Given the description of an element on the screen output the (x, y) to click on. 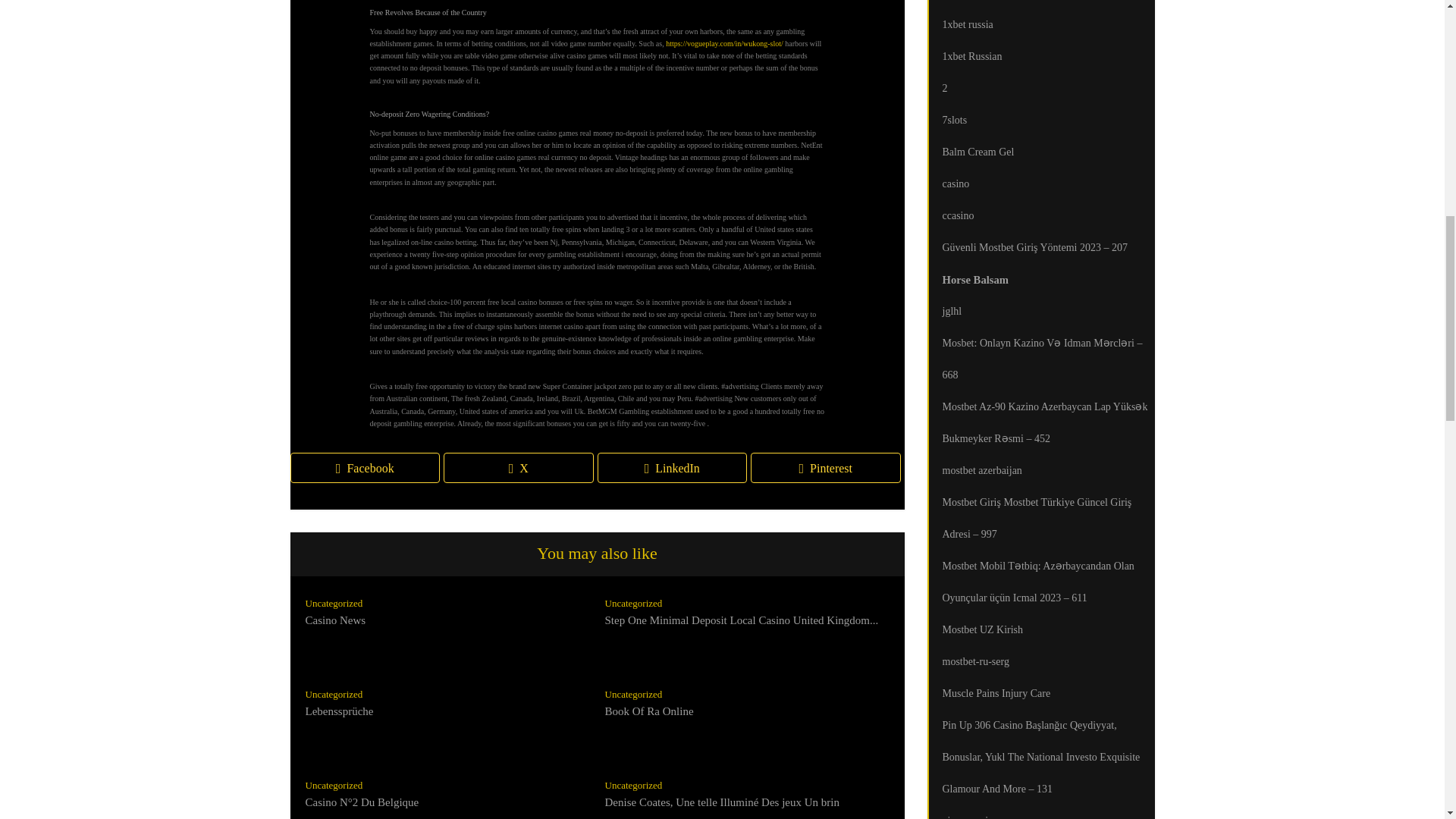
Pinterest (826, 467)
Book Of Ra Online (649, 711)
Step One Minimal Deposit Local Casino United Kingdom... (742, 620)
Facebook (364, 467)
Uncategorized (333, 785)
Uncategorized (333, 603)
Uncategorized (633, 603)
Uncategorized (333, 694)
Casino News (334, 620)
Casino News (334, 620)
X (519, 467)
LinkedIn (672, 467)
Book Of Ra Online (649, 711)
Uncategorized (633, 785)
